Given the description of an element on the screen output the (x, y) to click on. 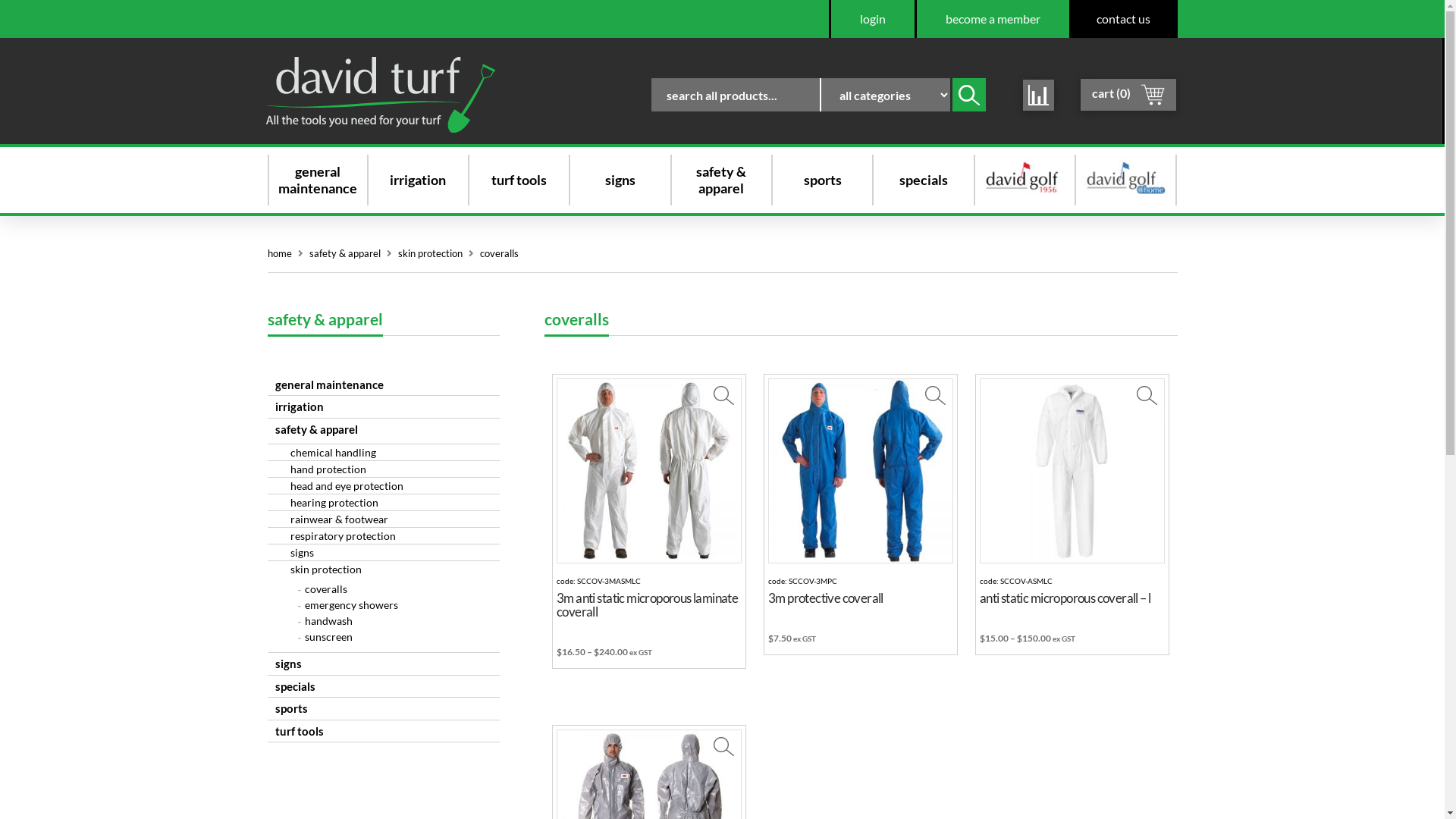
Quick View Element type: text (1146, 394)
general maintenance Element type: text (382, 384)
hearing protection Element type: text (382, 502)
safety & apparel Element type: text (721, 179)
signs Element type: text (620, 179)
Quick View Element type: text (723, 394)
sports Element type: text (822, 179)
3m protective coverall Element type: text (825, 597)
emergency showers Element type: text (382, 604)
irrigation Element type: text (382, 406)
login Element type: text (872, 18)
safety & apparel Element type: text (344, 253)
chemical handling Element type: text (382, 452)
skin protection Element type: text (382, 569)
general maintenance Element type: text (317, 179)
Quick View Element type: text (723, 746)
respiratory protection Element type: text (382, 535)
specials Element type: text (382, 686)
sunscreen Element type: text (382, 636)
signs Element type: text (382, 663)
sports Element type: text (382, 708)
hand protection Element type: text (382, 468)
handwash Element type: text (382, 620)
home Element type: text (278, 253)
become a member Element type: text (993, 18)
rainwear & footwear Element type: text (382, 519)
skin protection Element type: text (429, 253)
turf tools Element type: text (518, 179)
turf tools Element type: text (382, 731)
3m anti static microporous laminate coverall Element type: text (646, 604)
Quick View Element type: text (935, 394)
irrigation Element type: text (417, 179)
safety & apparel Element type: text (382, 429)
signs Element type: text (382, 552)
cart (0) Element type: text (1128, 94)
contact us Element type: text (1123, 18)
specials Element type: text (923, 179)
head and eye protection Element type: text (382, 485)
coveralls Element type: text (382, 588)
